Given the description of an element on the screen output the (x, y) to click on. 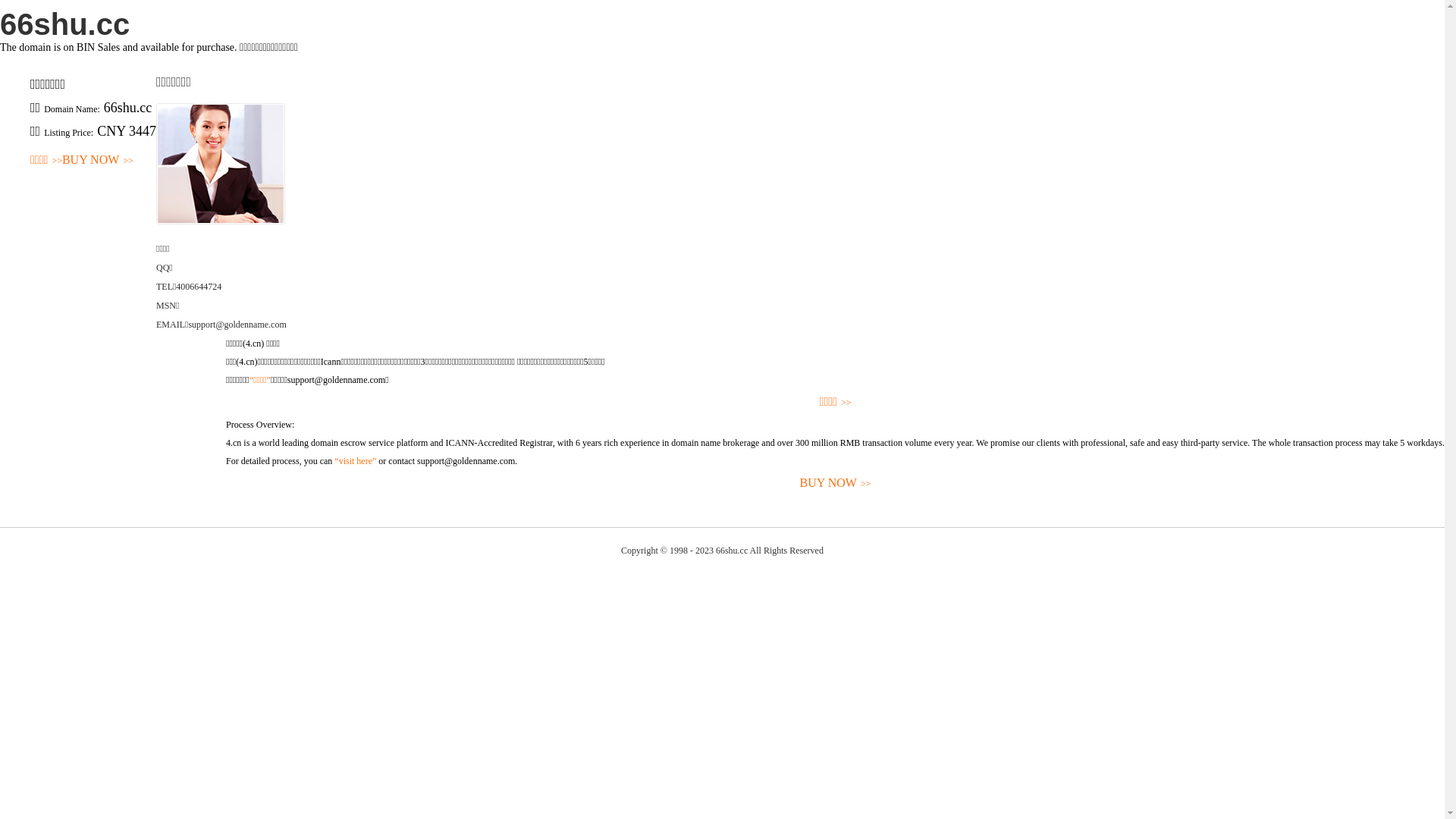
BUY NOW>> Element type: text (97, 160)
BUY NOW>> Element type: text (834, 483)
